Given the description of an element on the screen output the (x, y) to click on. 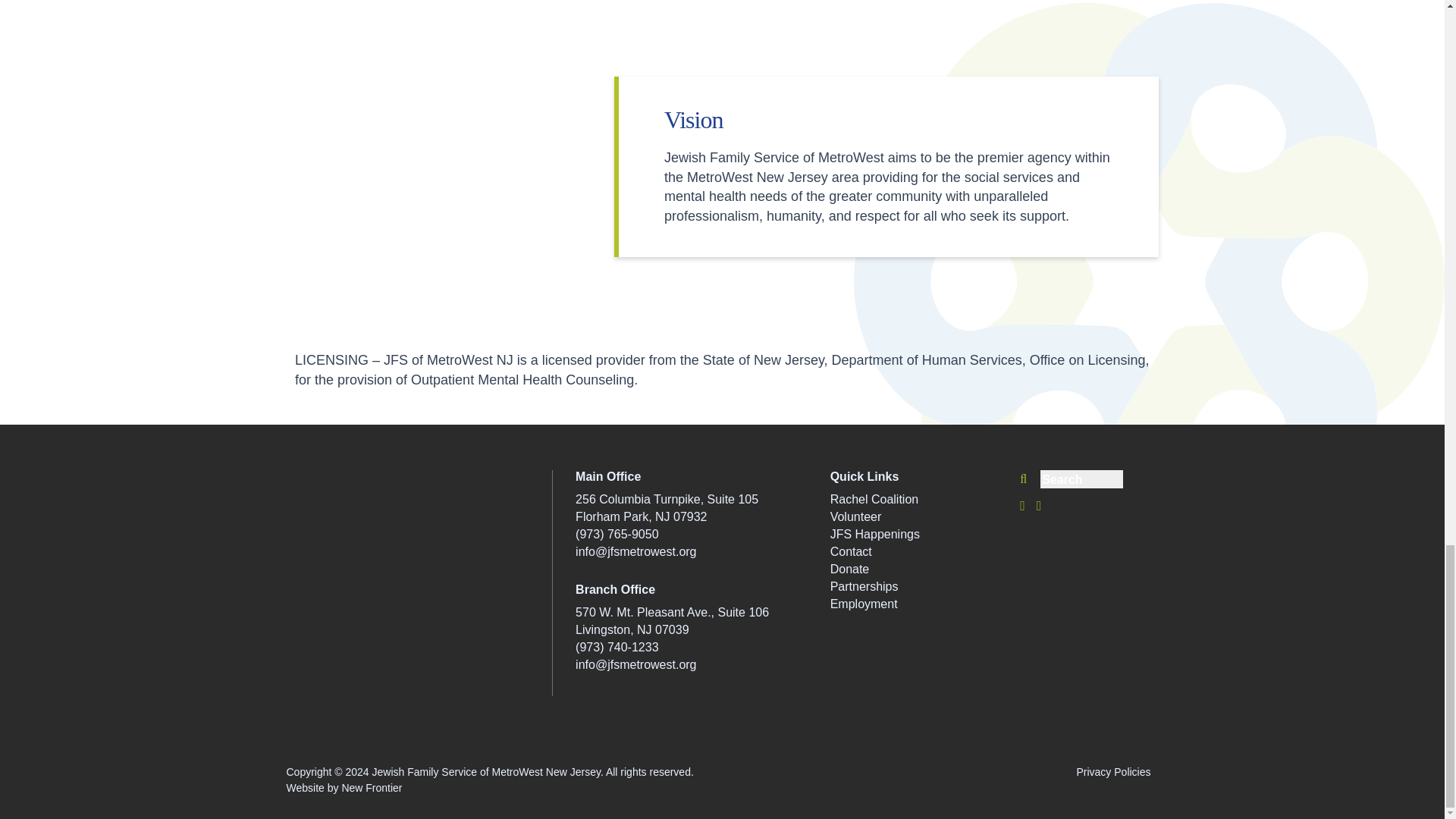
Search (1117, 475)
Search (1117, 475)
